Given the description of an element on the screen output the (x, y) to click on. 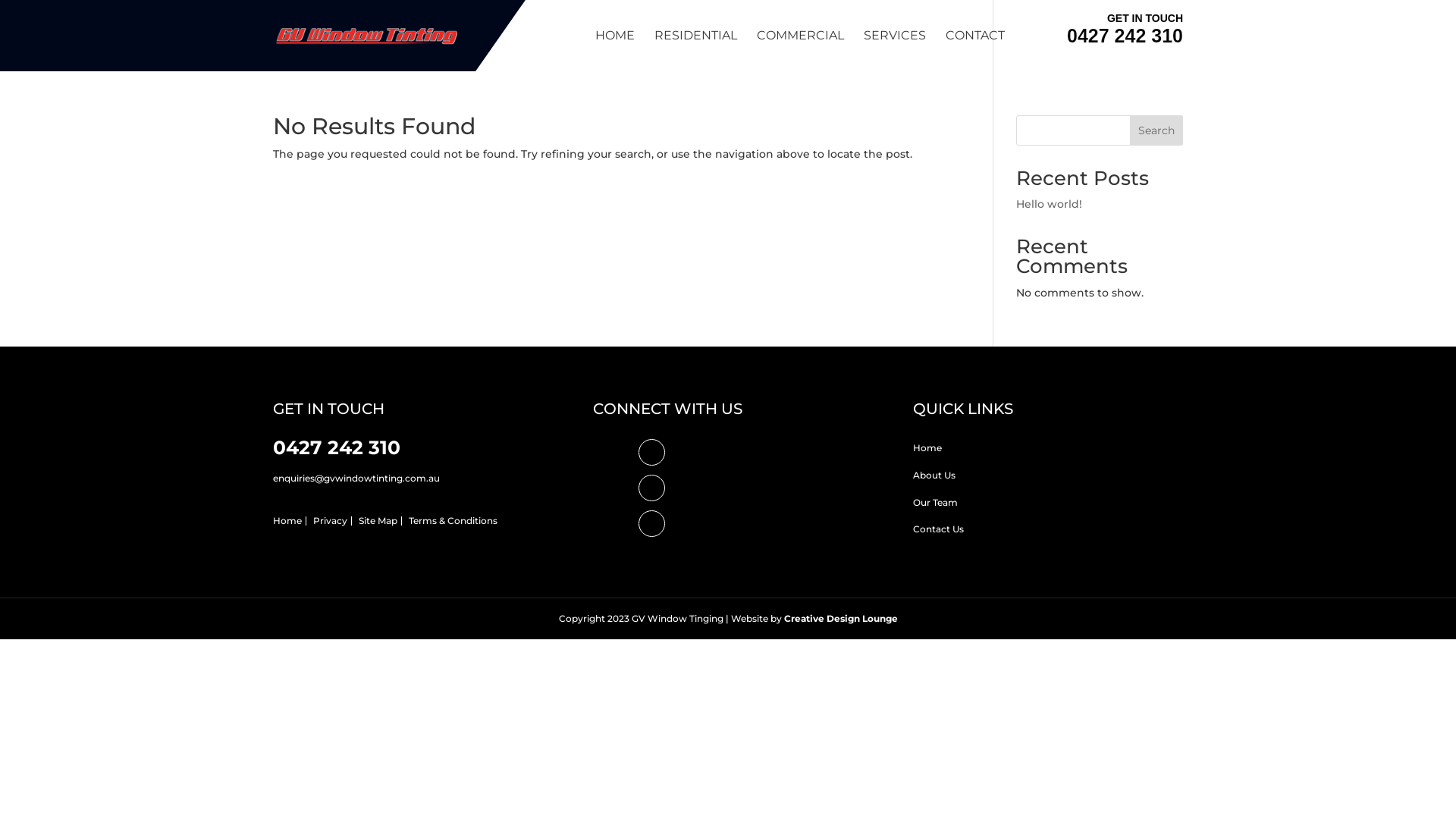
Our Team Element type: text (935, 502)
Home Element type: text (287, 520)
About Us Element type: text (934, 474)
RESIDENTIAL Element type: text (695, 50)
Creative Design Lounge Element type: text (840, 618)
Hello world! Element type: text (1049, 203)
Site Map Element type: text (377, 520)
GET IN TOUCH
0427 242 310 Element type: text (1124, 26)
Contact Us Element type: text (938, 528)
Privacy Element type: text (330, 520)
CONTACT Element type: text (974, 50)
Search Element type: text (1156, 130)
Home Element type: text (927, 447)
HOME Element type: text (614, 50)
COMMERCIAL Element type: text (800, 50)
SERVICES Element type: text (894, 50)
Terms & Conditions Element type: text (452, 520)
enquiries@gvwindowtinting.com.au Element type: text (356, 477)
0427 242 310 Element type: text (336, 447)
